Given the description of an element on the screen output the (x, y) to click on. 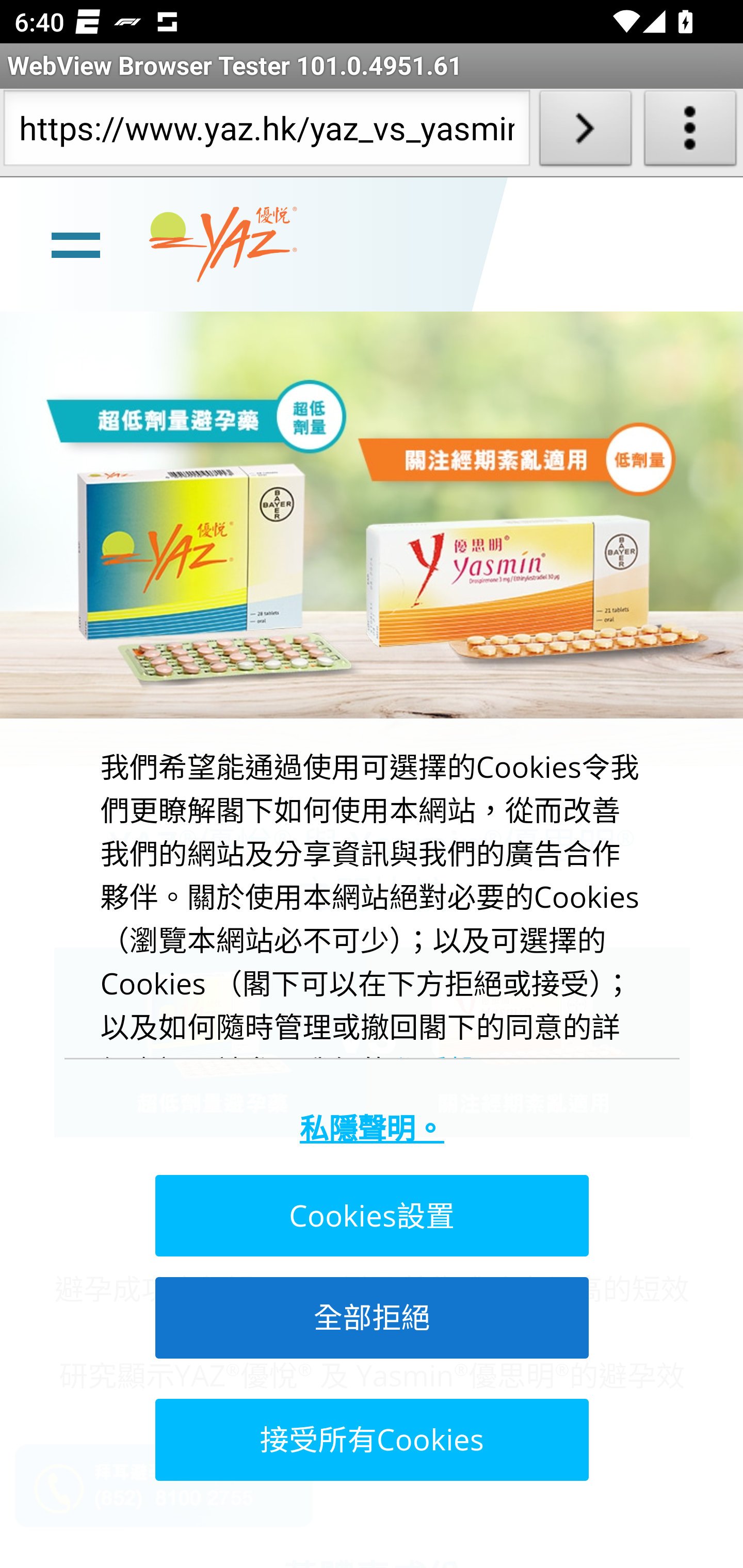
Load URL (585, 132)
About WebView (690, 132)
www.yaz (222, 244)
line Toggle burger menu (75, 242)
Cookies設置 (370, 1215)
全部拒絕 (370, 1317)
接受所有Cookies (370, 1439)
